Given the description of an element on the screen output the (x, y) to click on. 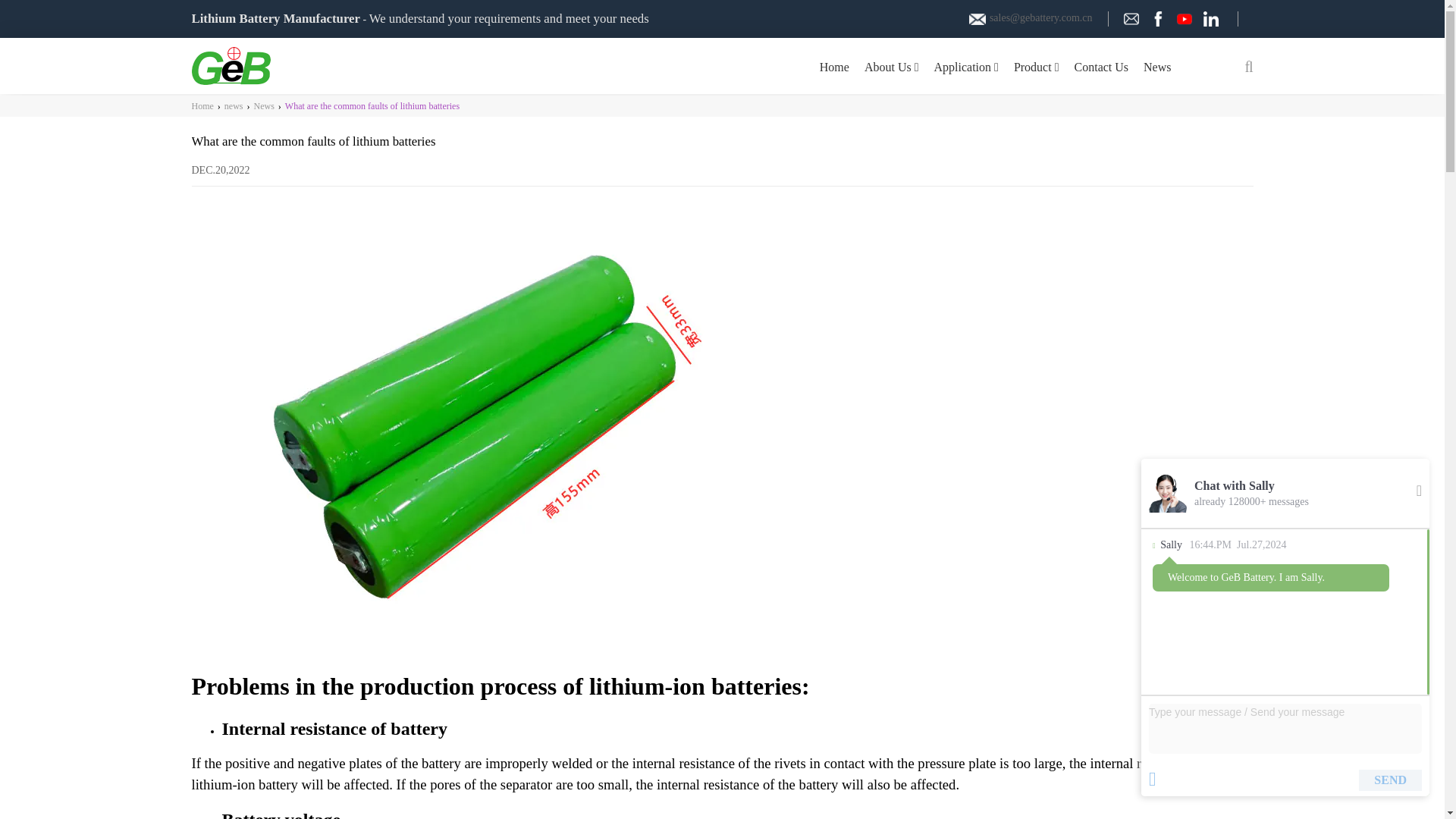
Application  (966, 66)
News (1156, 66)
Product  (1036, 66)
About Us  (891, 66)
Contact Us (1102, 66)
Home (834, 66)
